Given the description of an element on the screen output the (x, y) to click on. 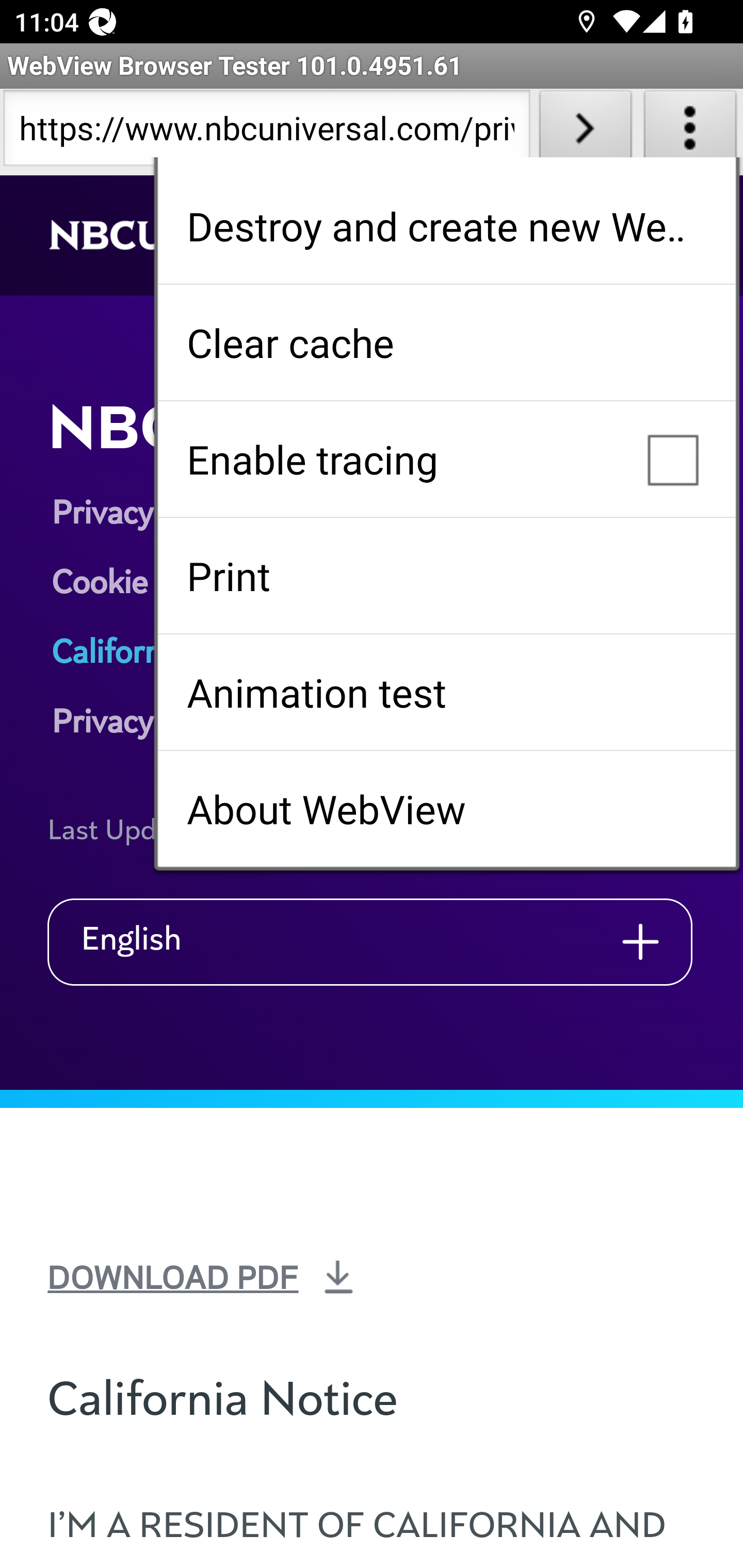
Destroy and create new WebView (446, 225)
Clear cache (446, 342)
Enable tracing (446, 459)
Print (446, 575)
Animation test (446, 692)
About WebView (446, 809)
